Given the description of an element on the screen output the (x, y) to click on. 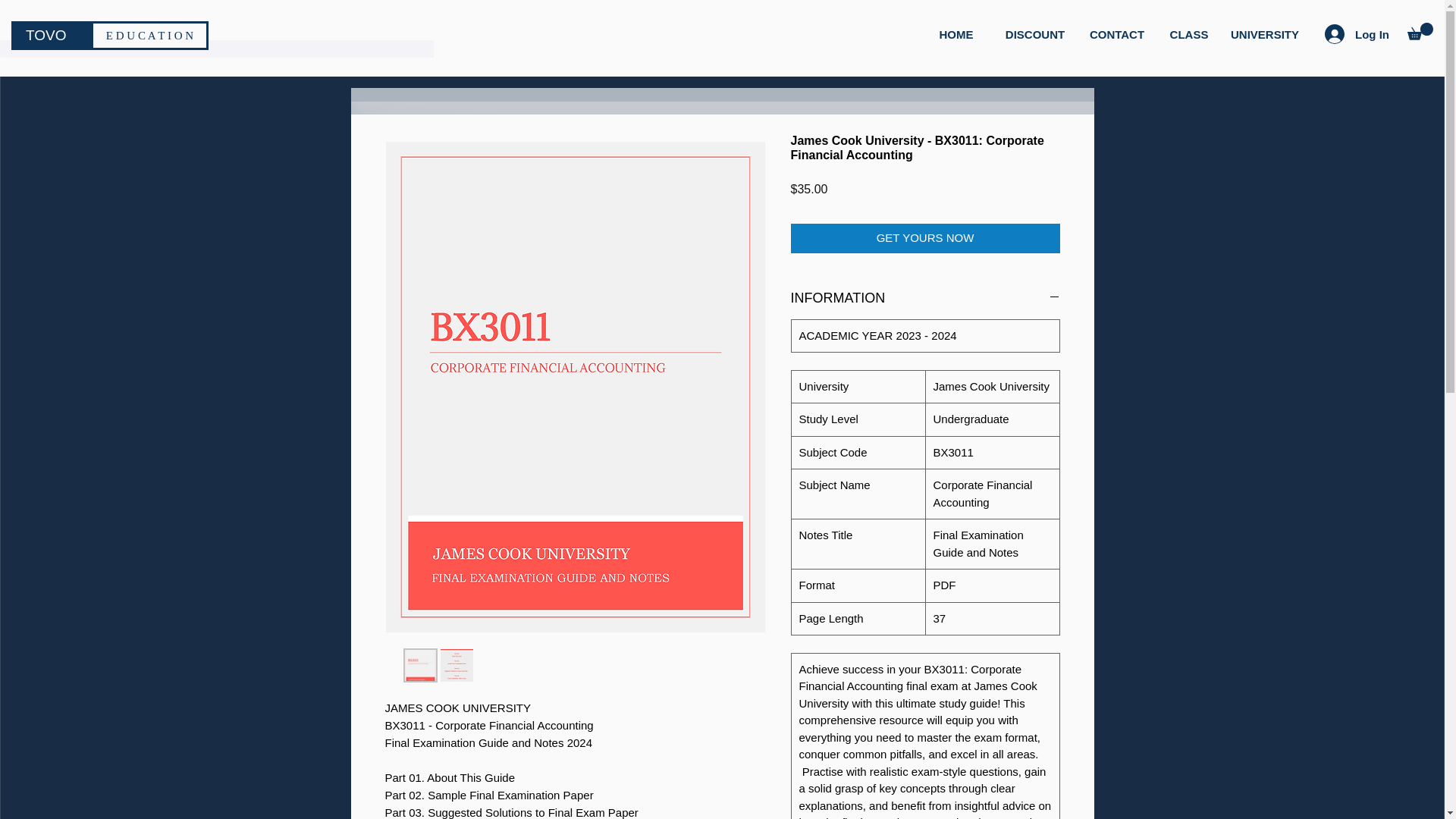
CLASS (1189, 33)
INFORMATION (924, 297)
UNIVERSITY (1264, 33)
E D U C A T I O N (149, 35)
DISCOUNT (1034, 33)
HOME (956, 33)
GET YOURS NOW (924, 238)
TOVO (50, 35)
CONTACT (1116, 33)
Log In (1356, 33)
